Given the description of an element on the screen output the (x, y) to click on. 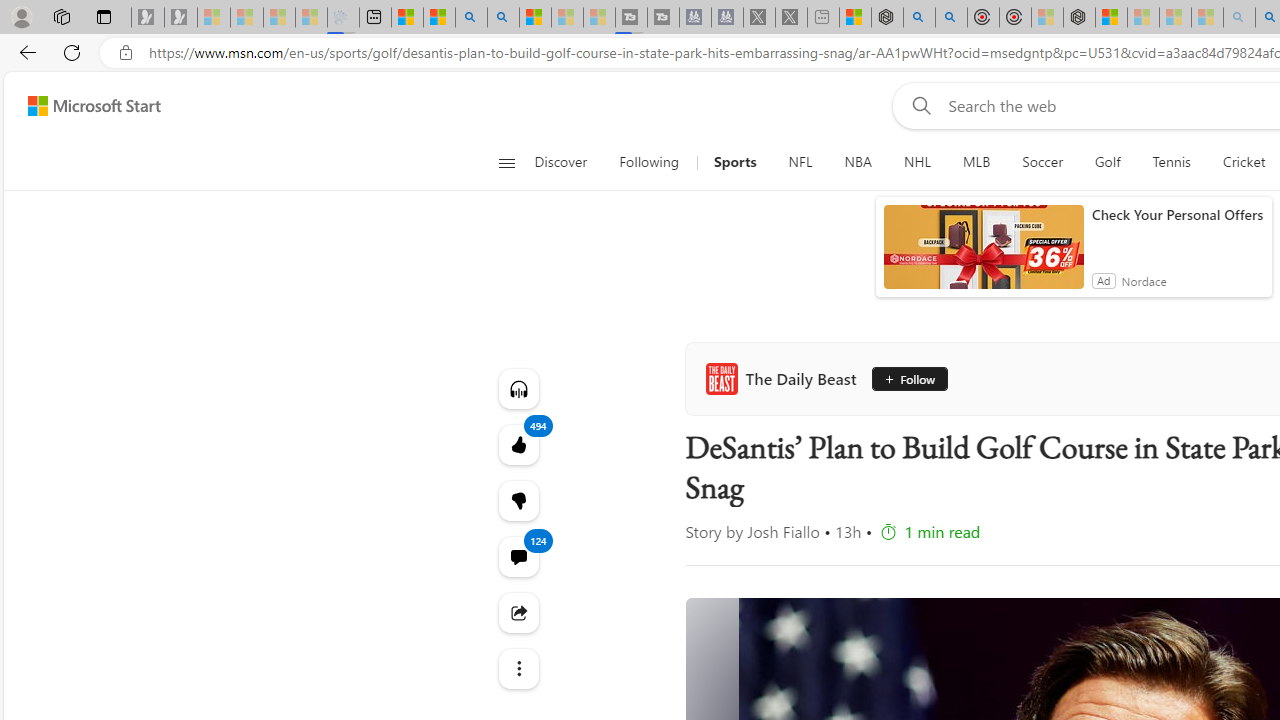
Wildlife - MSN (855, 17)
Microsoft Start - Sleeping (566, 17)
Check Your Personal Offers (1177, 214)
Tennis (1171, 162)
See more (517, 668)
Skip to footer (82, 105)
Microsoft Start (94, 105)
Nordace - Nordace Siena Is Not An Ordinary Backpack (1078, 17)
MLB (977, 162)
New tab - Sleeping (822, 17)
Golf (1107, 162)
